Given the description of an element on the screen output the (x, y) to click on. 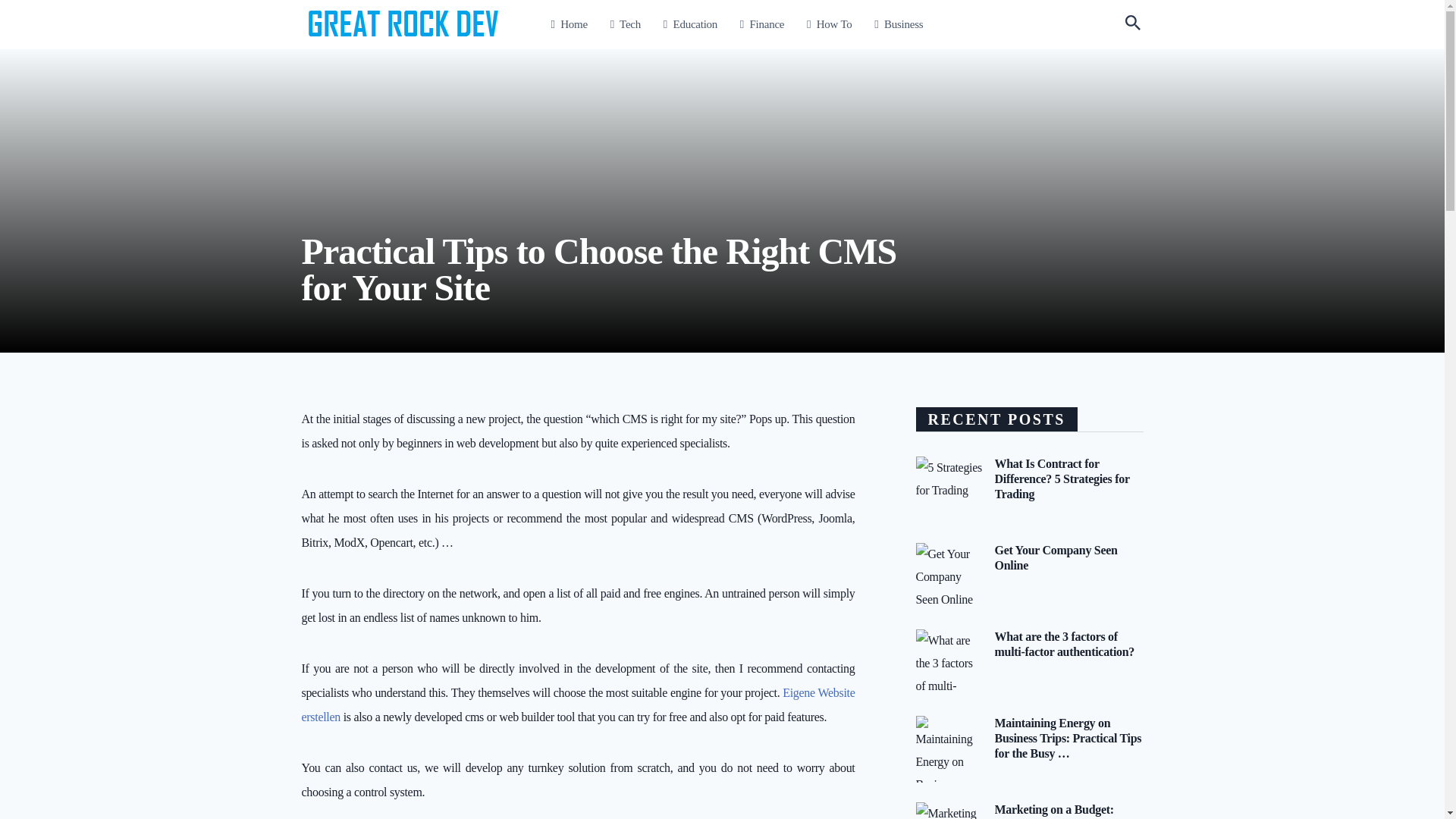
How To (828, 24)
Get Your Company Seen Online (1056, 556)
Eigene Website erstellen (578, 703)
What are the 3 factors of multi-factor authentication? (1064, 643)
What Is Contract for Difference? 5 Strategies for Trading (1061, 477)
What are the 3 factors of multi-factor authentication? (1064, 643)
Get Your Company Seen Online (1056, 556)
Finance (761, 24)
